Given the description of an element on the screen output the (x, y) to click on. 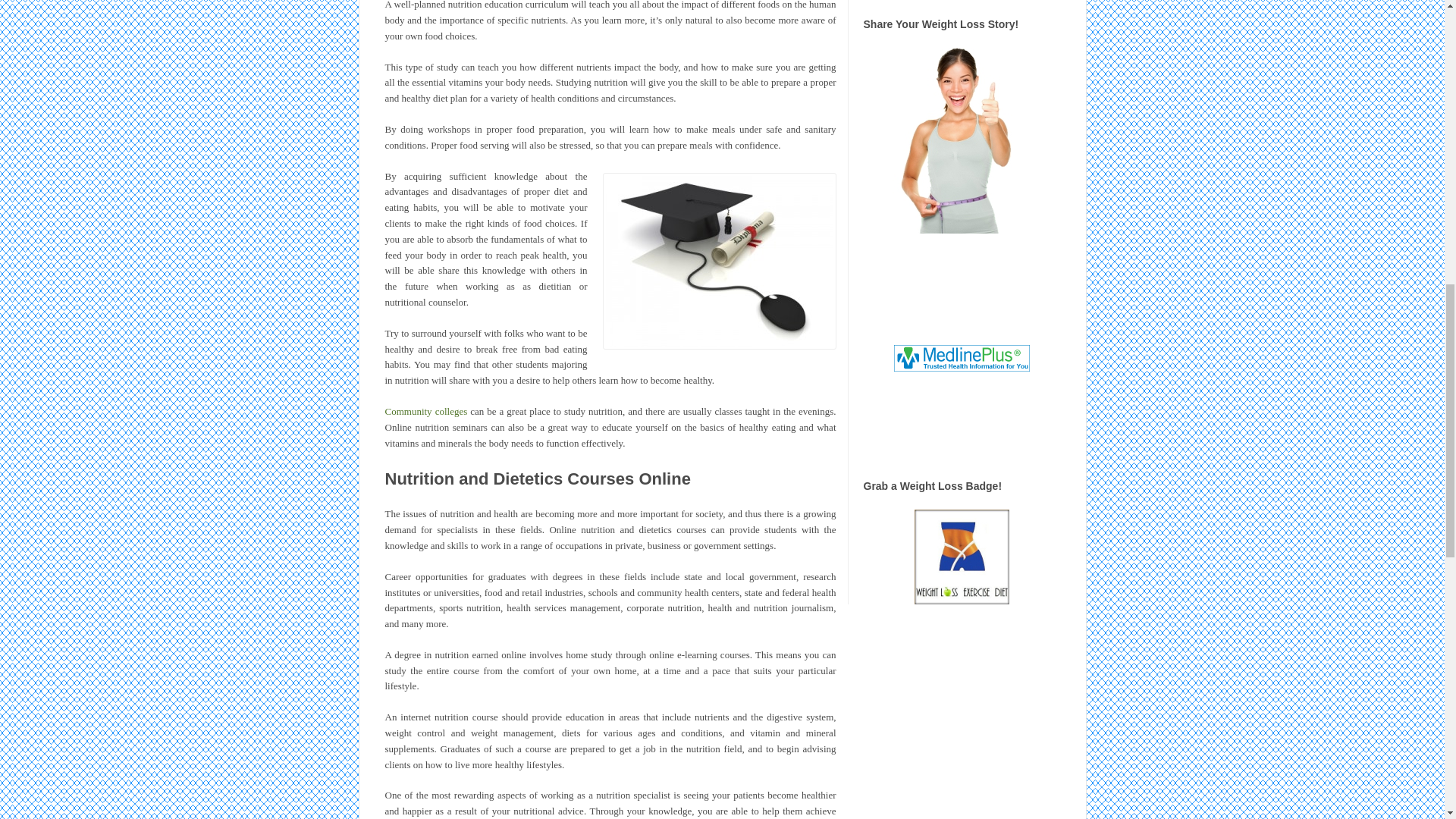
study nutrition online (718, 260)
Click to grab the badge (961, 556)
Do you have a weight loss story to share? (961, 140)
National Institutes of Health (961, 357)
